Given the description of an element on the screen output the (x, y) to click on. 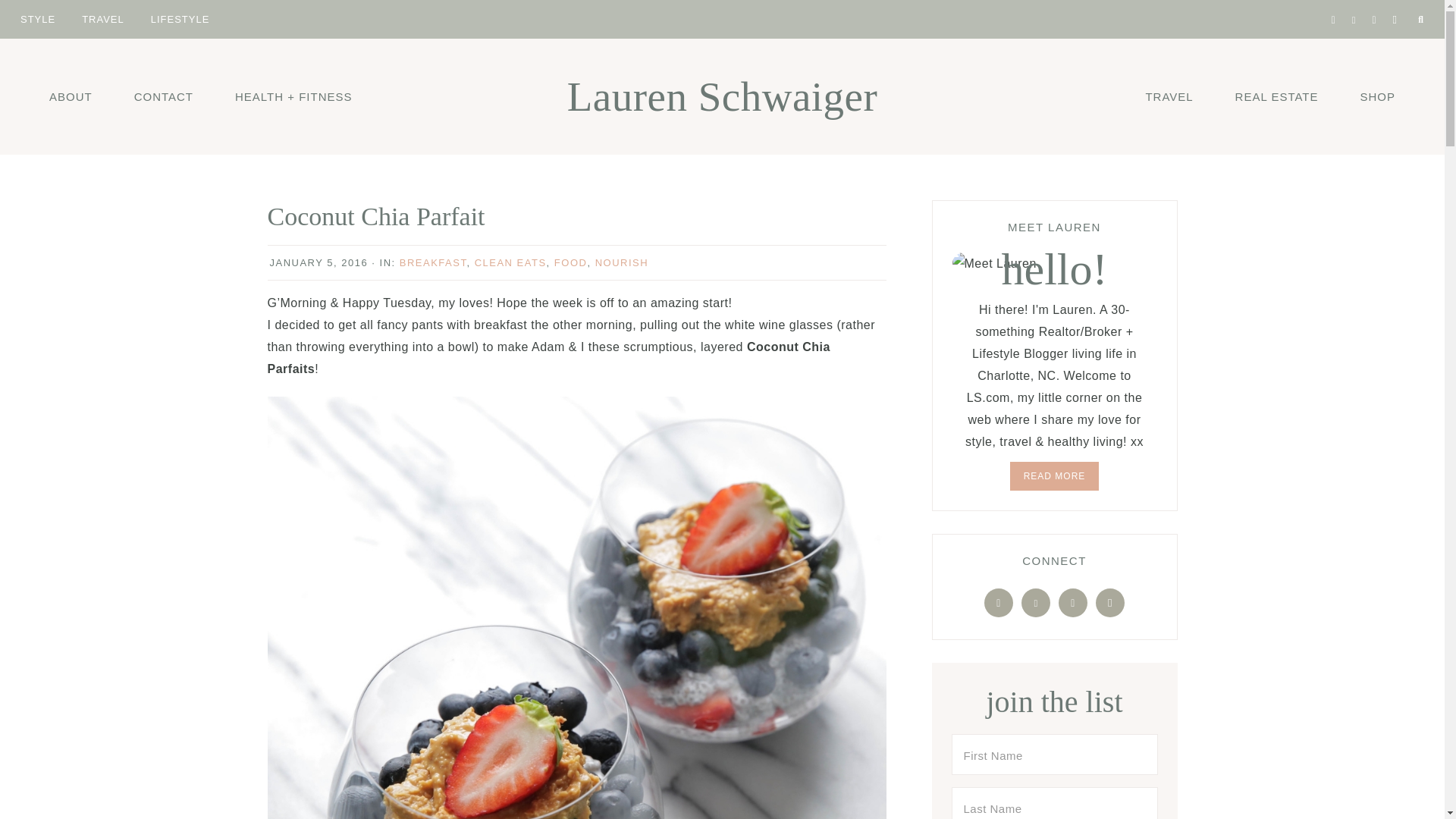
LIFESTYLE (180, 18)
ABOUT (71, 95)
REAL ESTATE (1276, 95)
BREAKFAST (432, 262)
Lauren Schwaiger (722, 96)
STYLE (37, 18)
TRAVEL (1168, 95)
CONTACT (163, 95)
SHOP (1376, 95)
TRAVEL (102, 18)
